Given the description of an element on the screen output the (x, y) to click on. 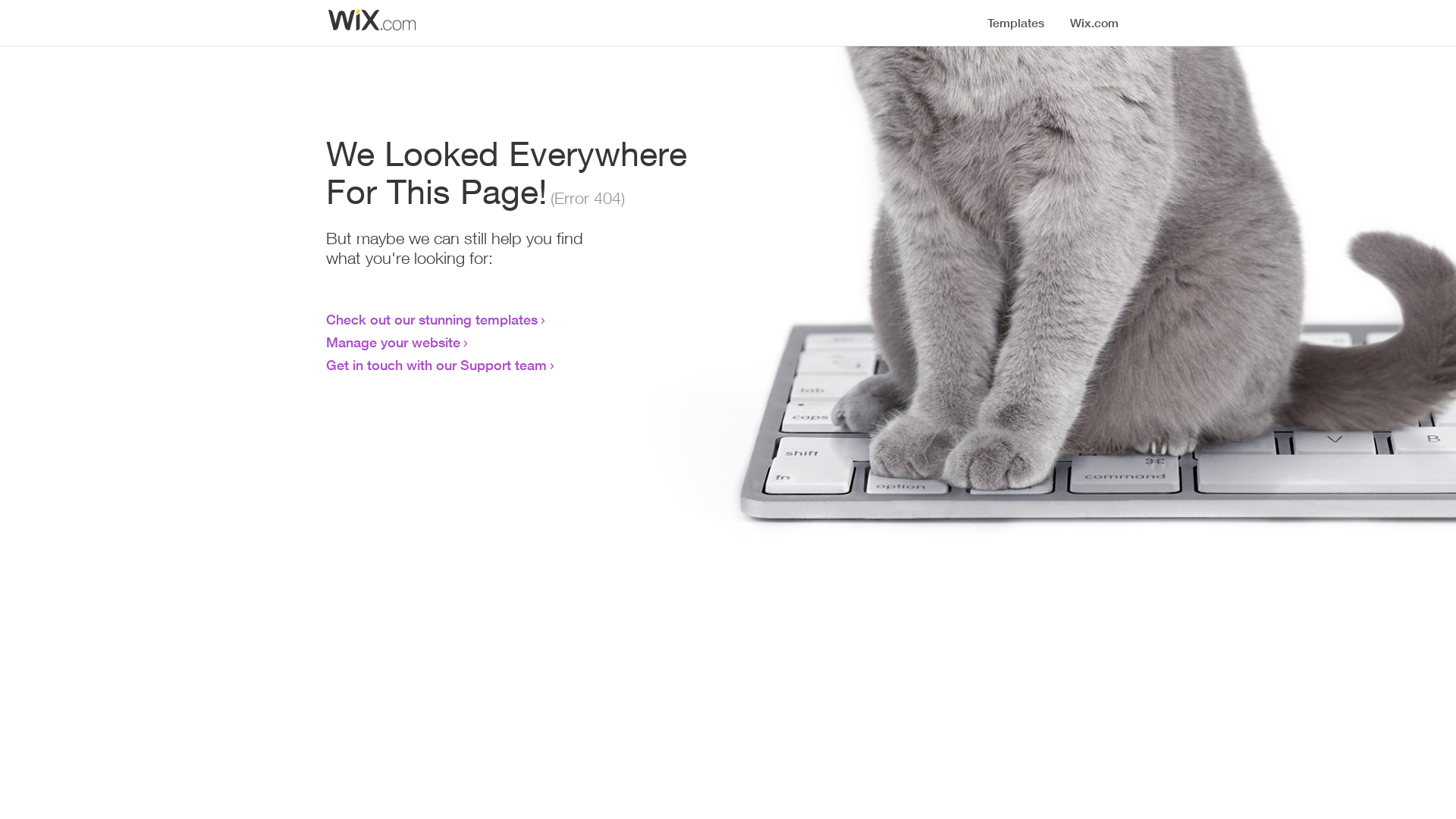
Check out our stunning templates Element type: text (431, 318)
Manage your website Element type: text (393, 341)
Get in touch with our Support team Element type: text (436, 364)
